Given the description of an element on the screen output the (x, y) to click on. 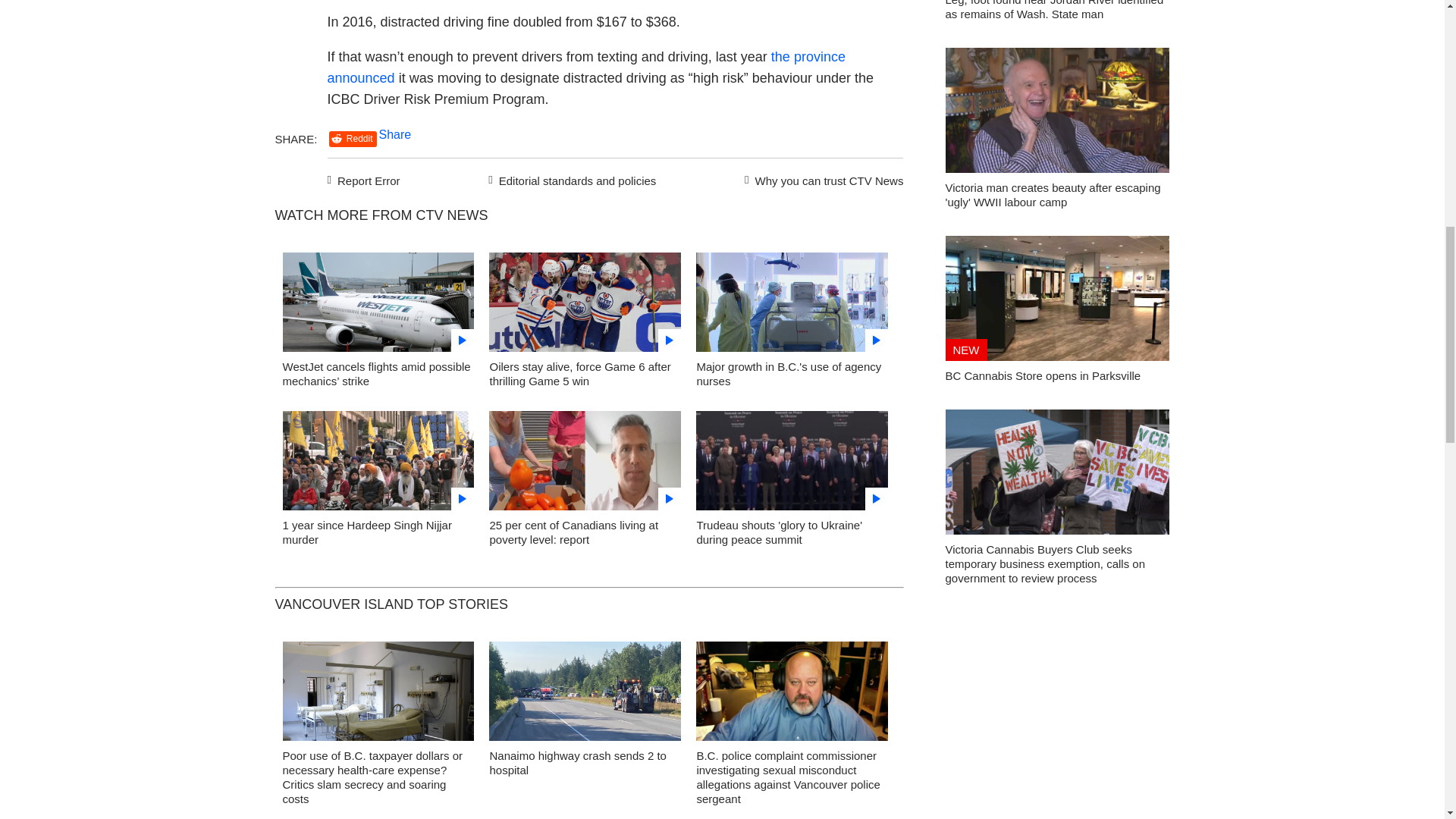
Food Banks Canada report highlights hidden poverty (585, 464)
Vancouver police Sgt. Keiron McConnell (791, 695)
CTV National News: WestJet flight cancellations (378, 306)
1 year since Hardeep Singh Nijjar murder (378, 464)
Trudeau shouts 'glory to Ukraine' during peace summit (778, 532)
25 per cent of Canadians living at poverty level: report (573, 532)
Nanaimo Highway 19 crash  (585, 695)
false (378, 460)
Share (395, 133)
Nanaimo highway crash sends 2 to hospital (577, 762)
false (585, 302)
Editorial standards and policies (569, 178)
Why you can trust CTV News (820, 178)
